Given the description of an element on the screen output the (x, y) to click on. 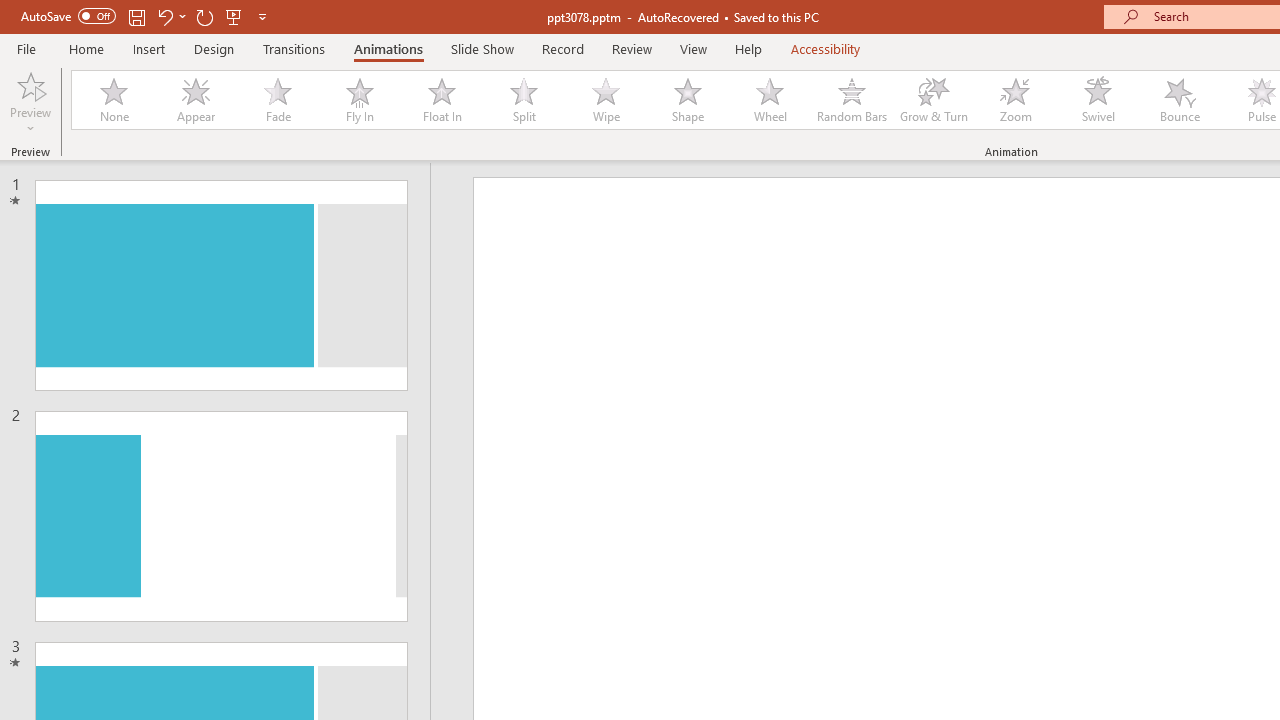
Appear (195, 100)
Bounce (1180, 100)
Shape (687, 100)
Fly In (359, 100)
